Given the description of an element on the screen output the (x, y) to click on. 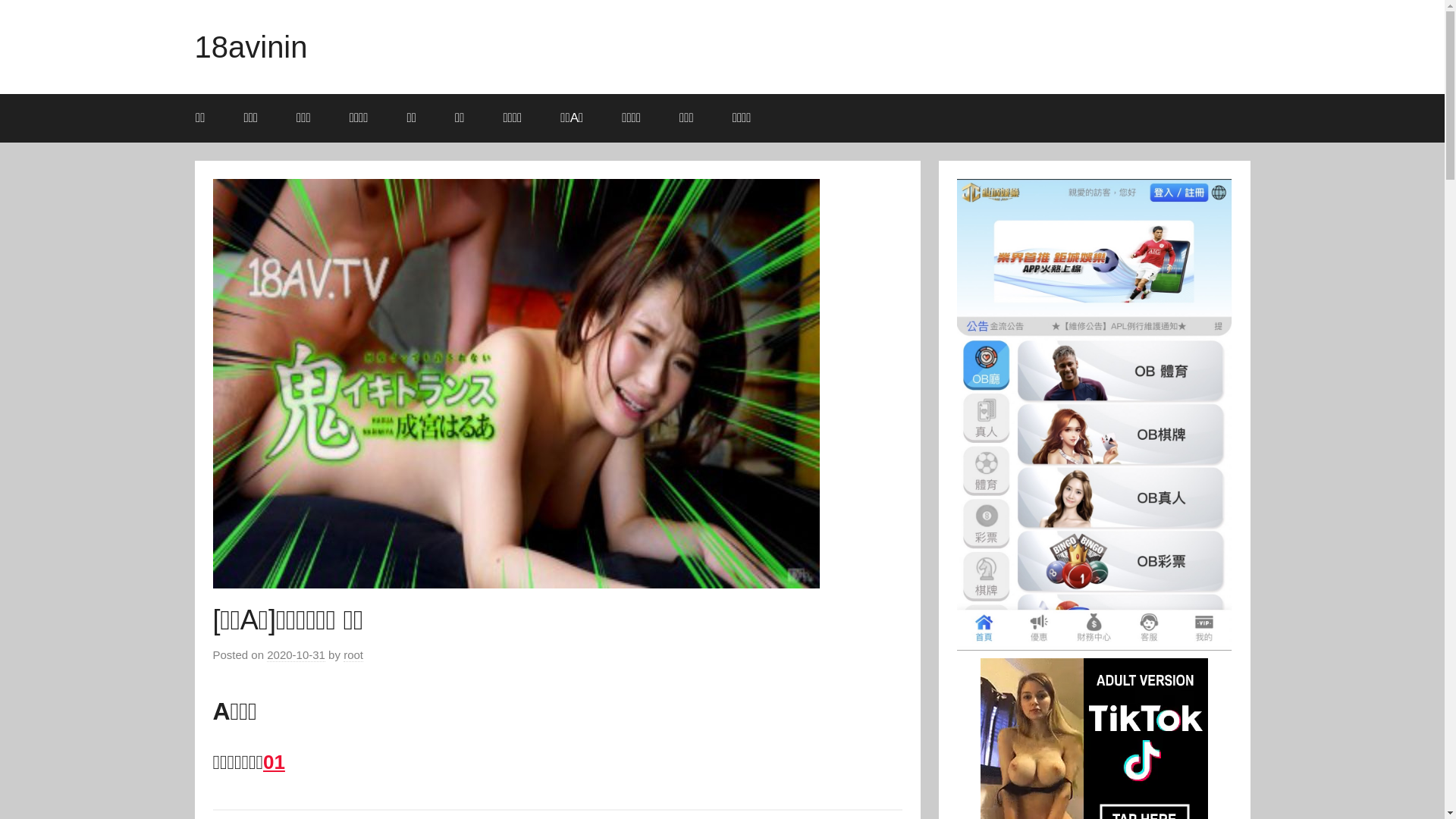
18avinin Element type: text (250, 46)
01 Element type: text (274, 761)
2020-10-31 Element type: text (295, 655)
root Element type: text (353, 655)
